Given the description of an element on the screen output the (x, y) to click on. 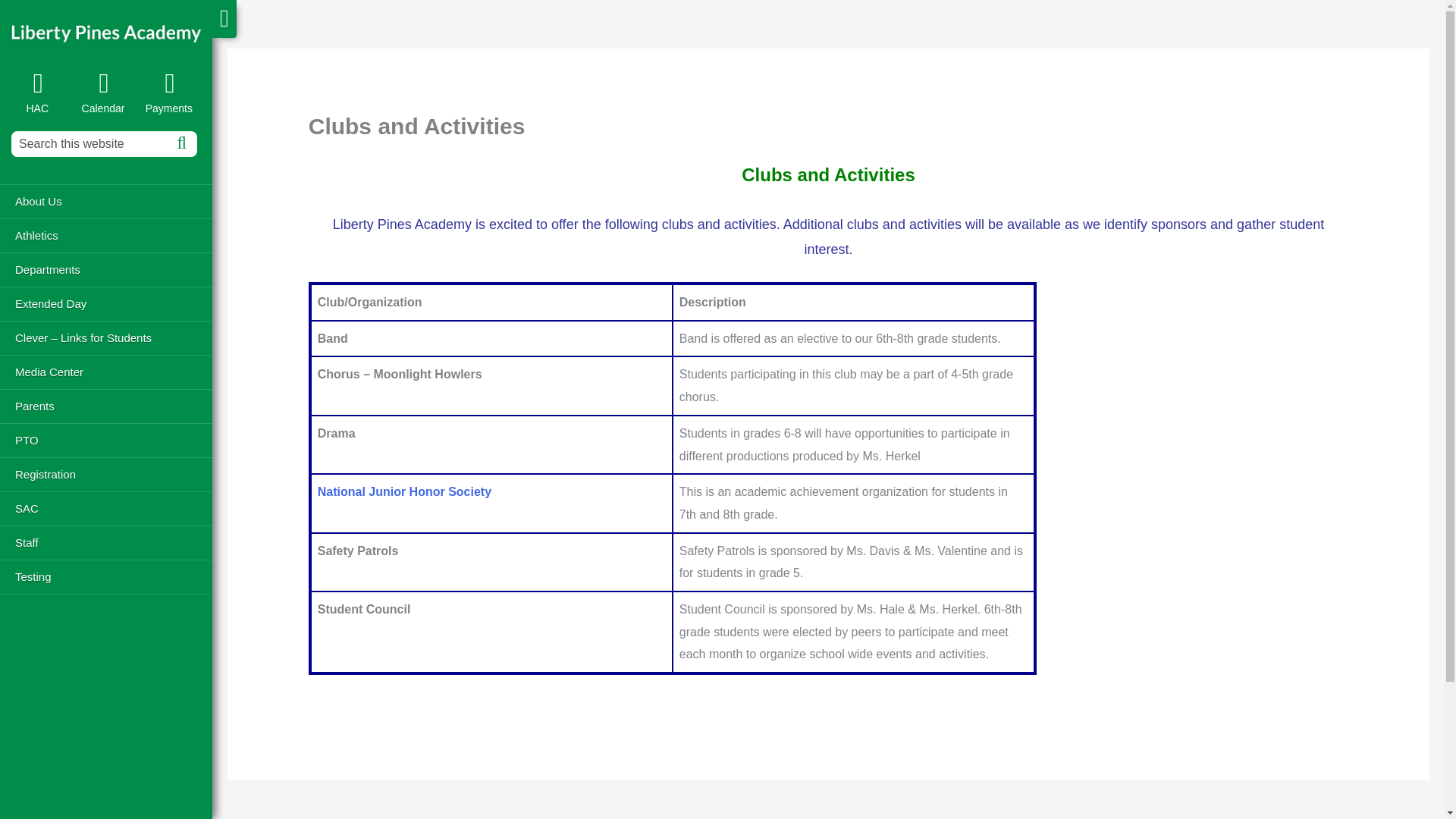
Parents (106, 406)
Staff (106, 542)
Registration (106, 474)
Testing (106, 576)
Departments (106, 269)
National Junior Honor Society (404, 491)
HAC (44, 92)
Athletics (106, 235)
SAC (106, 508)
Extended Day (106, 303)
